Given the description of an element on the screen output the (x, y) to click on. 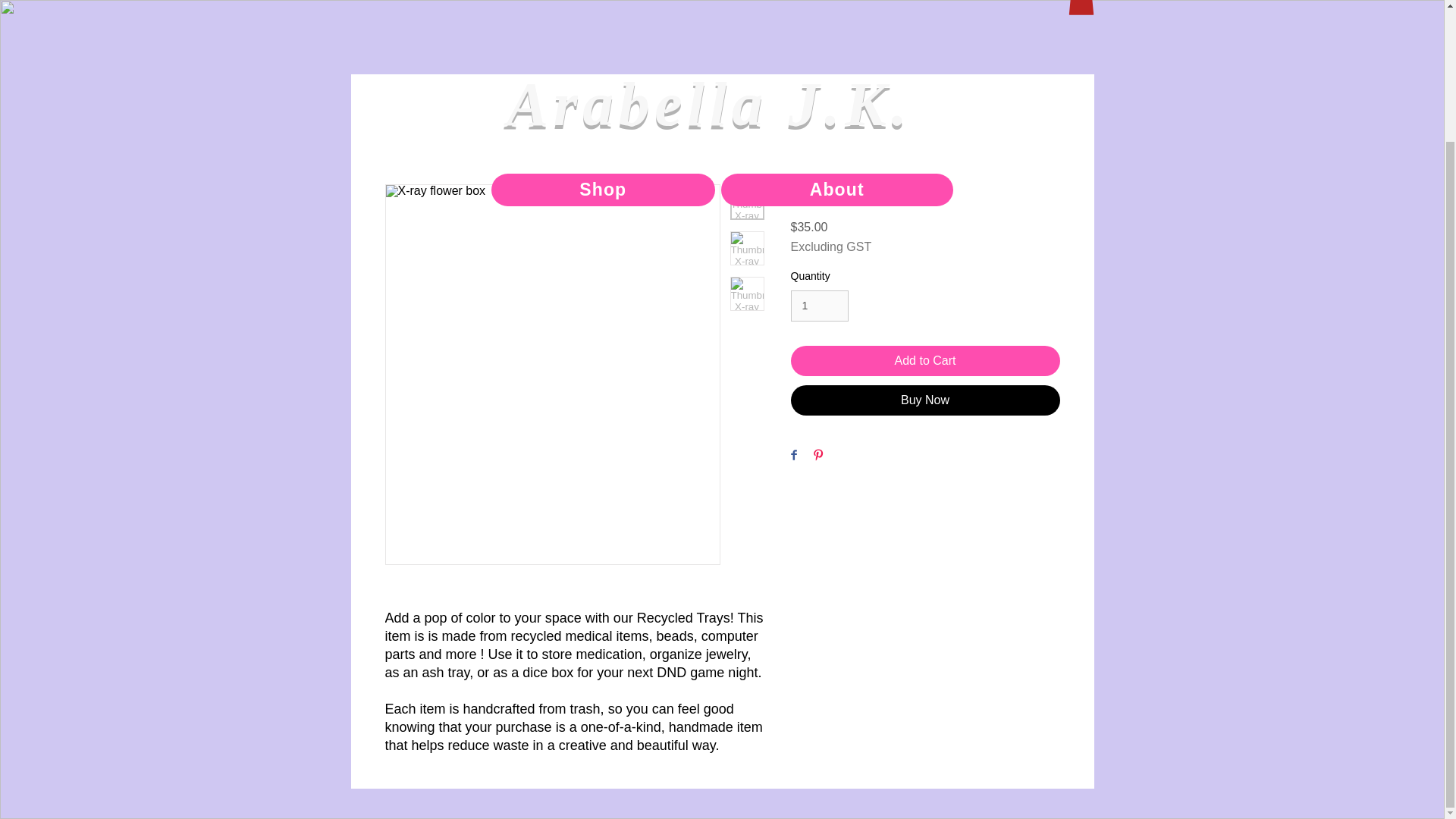
Shop (603, 29)
Buy Now (924, 399)
About (836, 29)
Add to Cart (924, 360)
1 (818, 305)
